Given the description of an element on the screen output the (x, y) to click on. 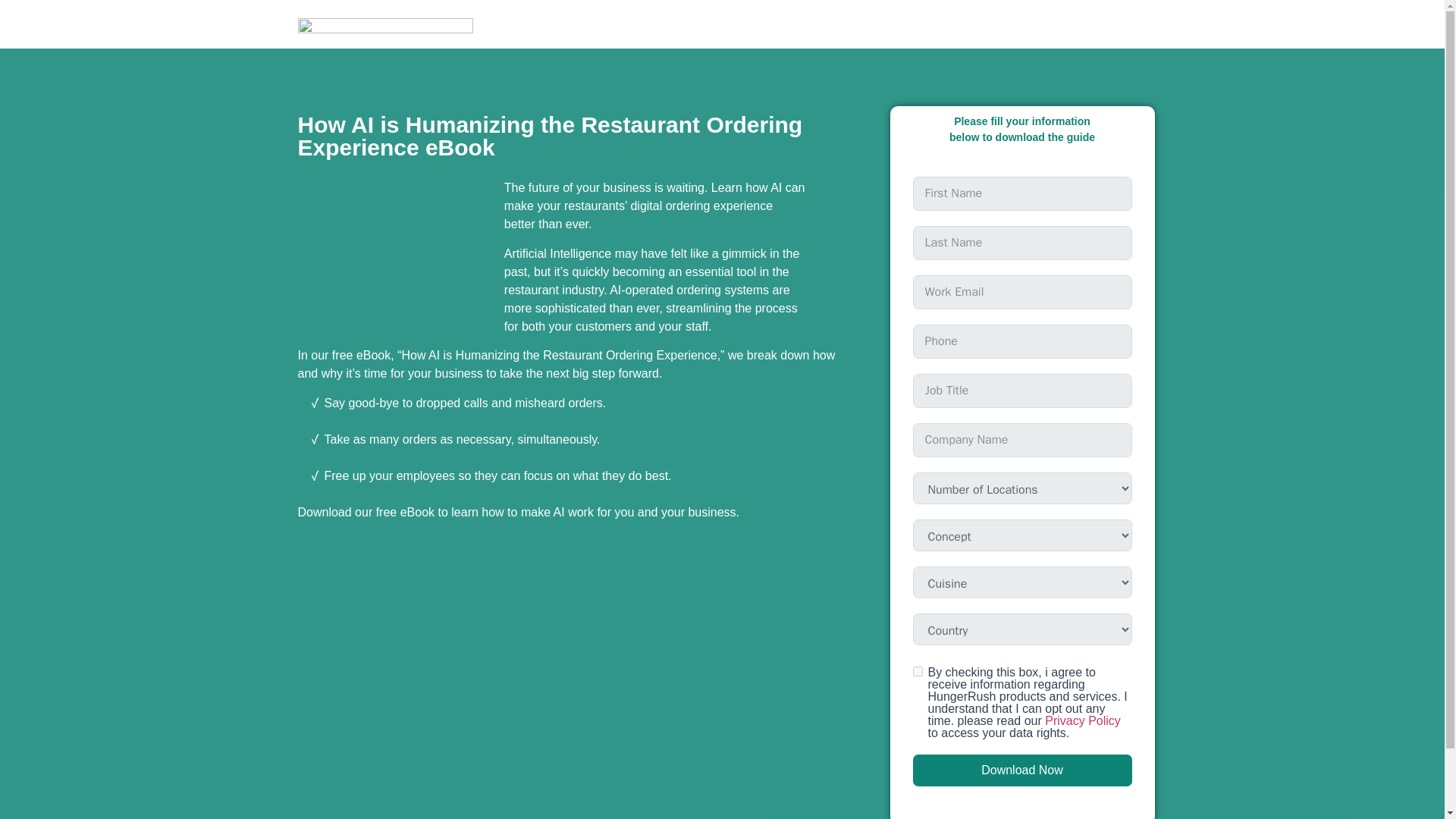
on (917, 671)
Privacy Policy (1083, 720)
Download Now (1022, 770)
